Given the description of an element on the screen output the (x, y) to click on. 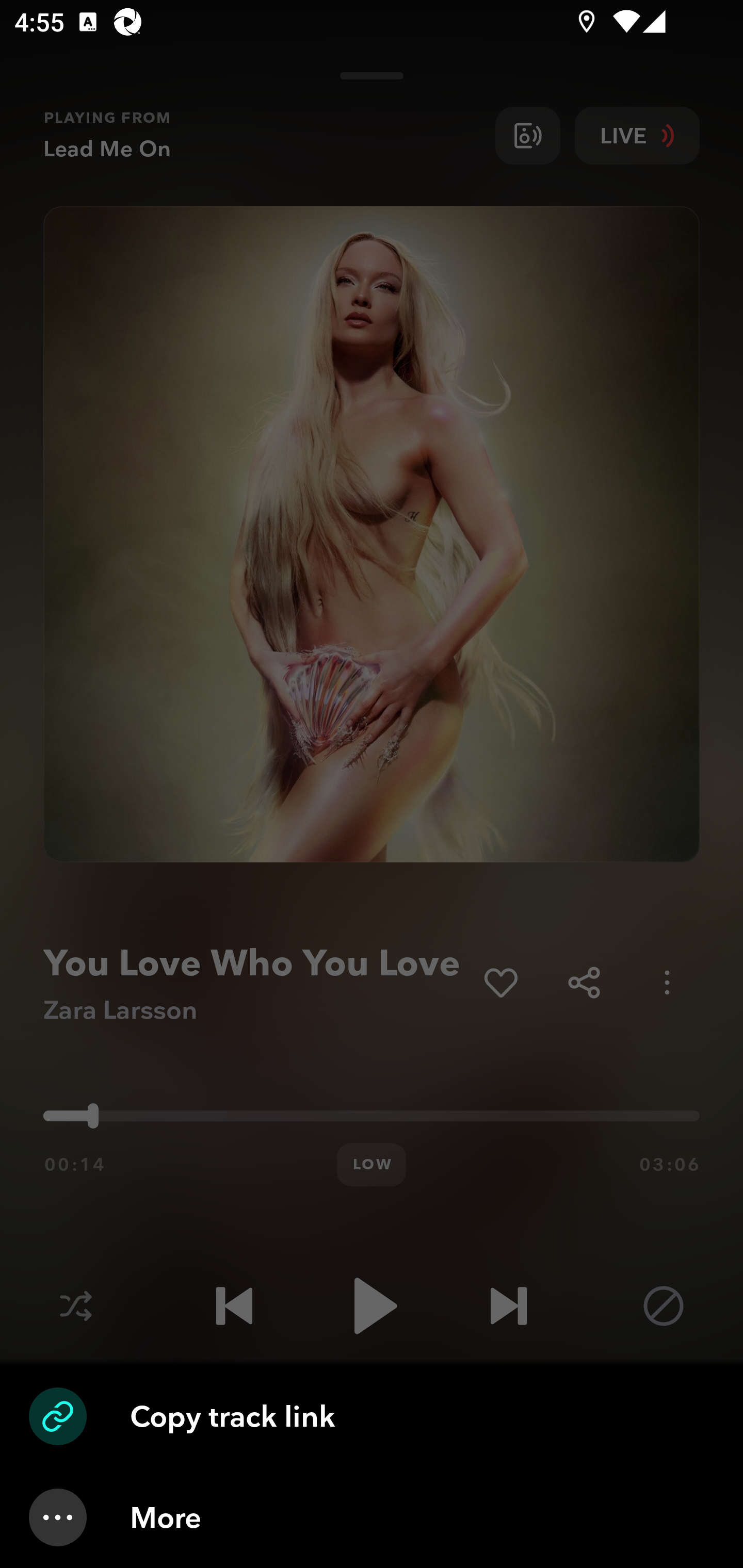
Copy track link (371, 1416)
More (371, 1517)
